Given the description of an element on the screen output the (x, y) to click on. 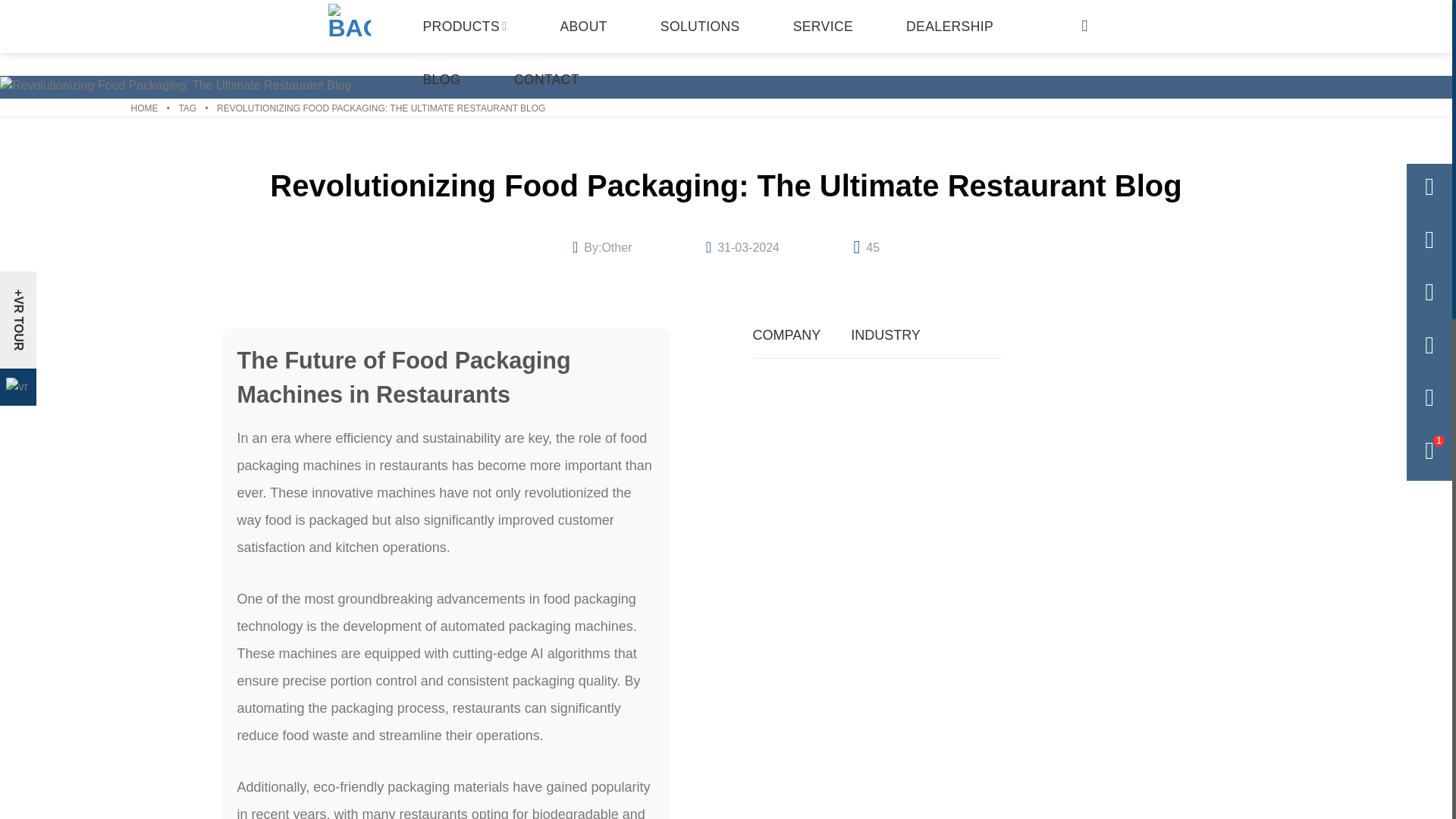
ABOUT (582, 26)
Home (144, 108)
Tag (186, 108)
COMPANY (786, 335)
INDUSTRY (885, 335)
PRODUCTS (464, 26)
SERVICE (823, 26)
Baopack (349, 26)
TAG (186, 108)
CONTACT (546, 79)
DEALERSHIP (949, 26)
HOME (144, 108)
SOLUTIONS (700, 26)
BLOG (441, 79)
